Given the description of an element on the screen output the (x, y) to click on. 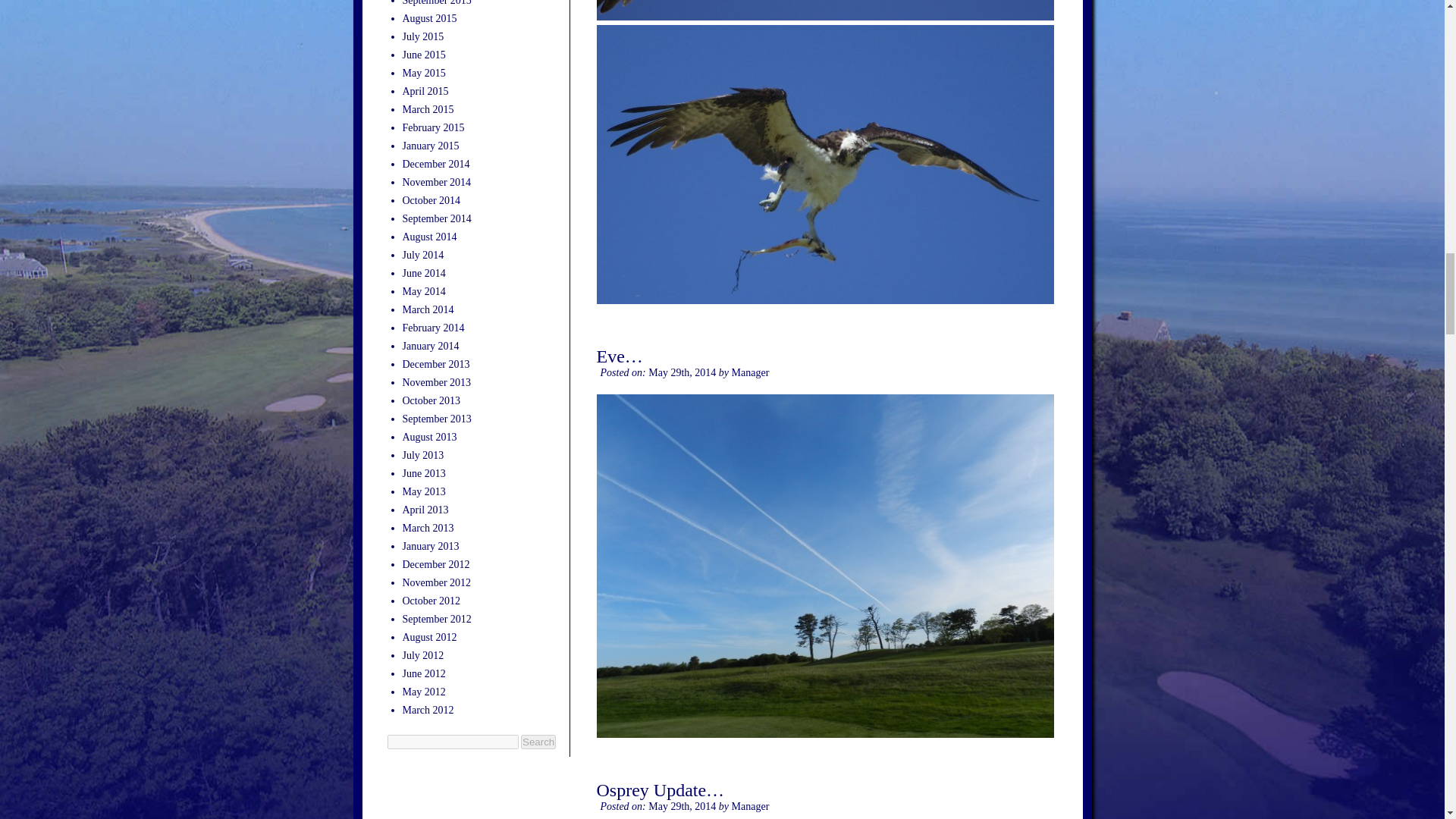
Search (538, 741)
